Given the description of an element on the screen output the (x, y) to click on. 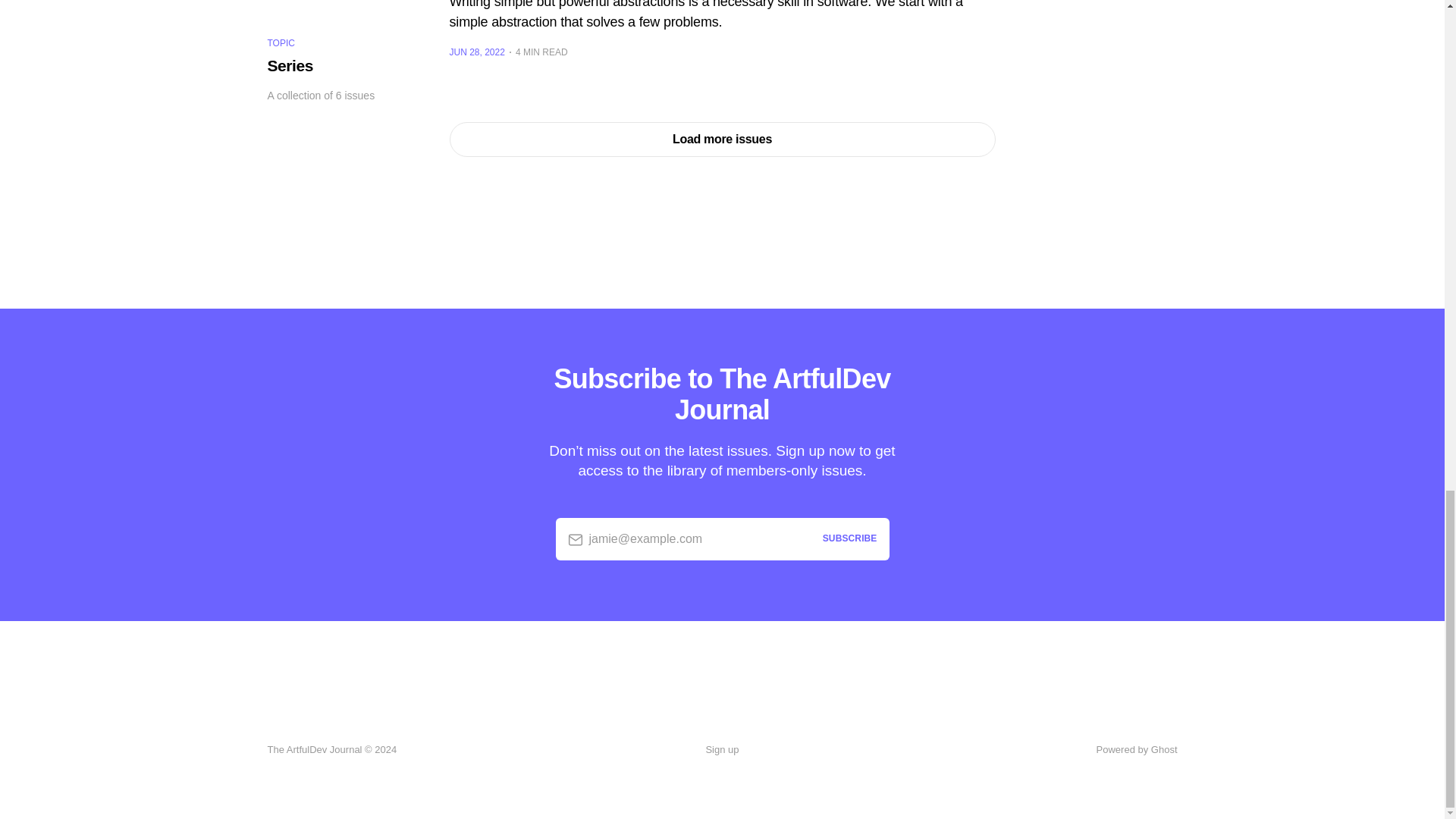
Powered by Ghost (1136, 749)
Sign up (721, 750)
Load more issues (721, 139)
